Given the description of an element on the screen output the (x, y) to click on. 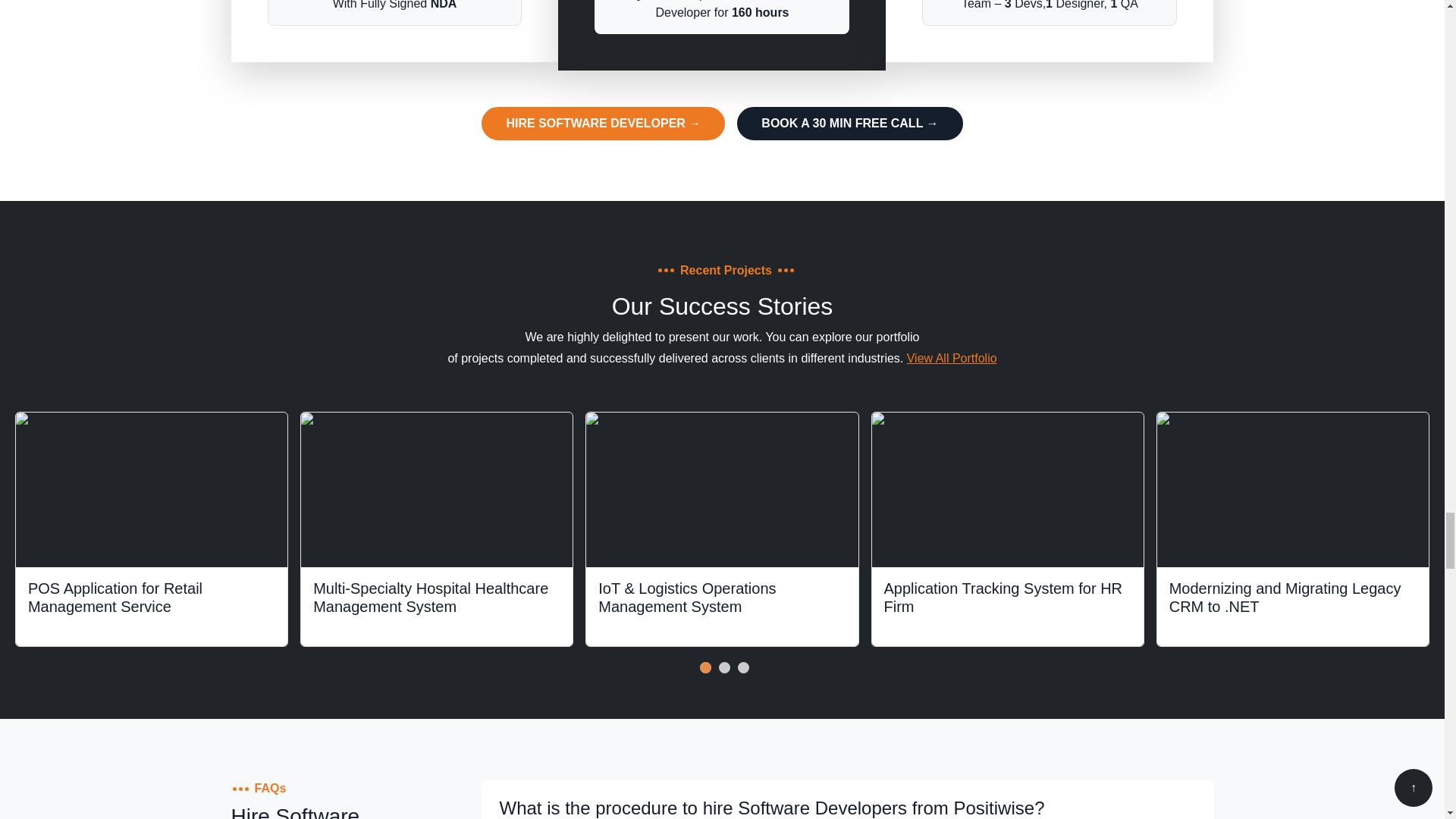
Hire Software Developer (603, 123)
BOOK A 30 MIN FREE CALL (849, 123)
